Given the description of an element on the screen output the (x, y) to click on. 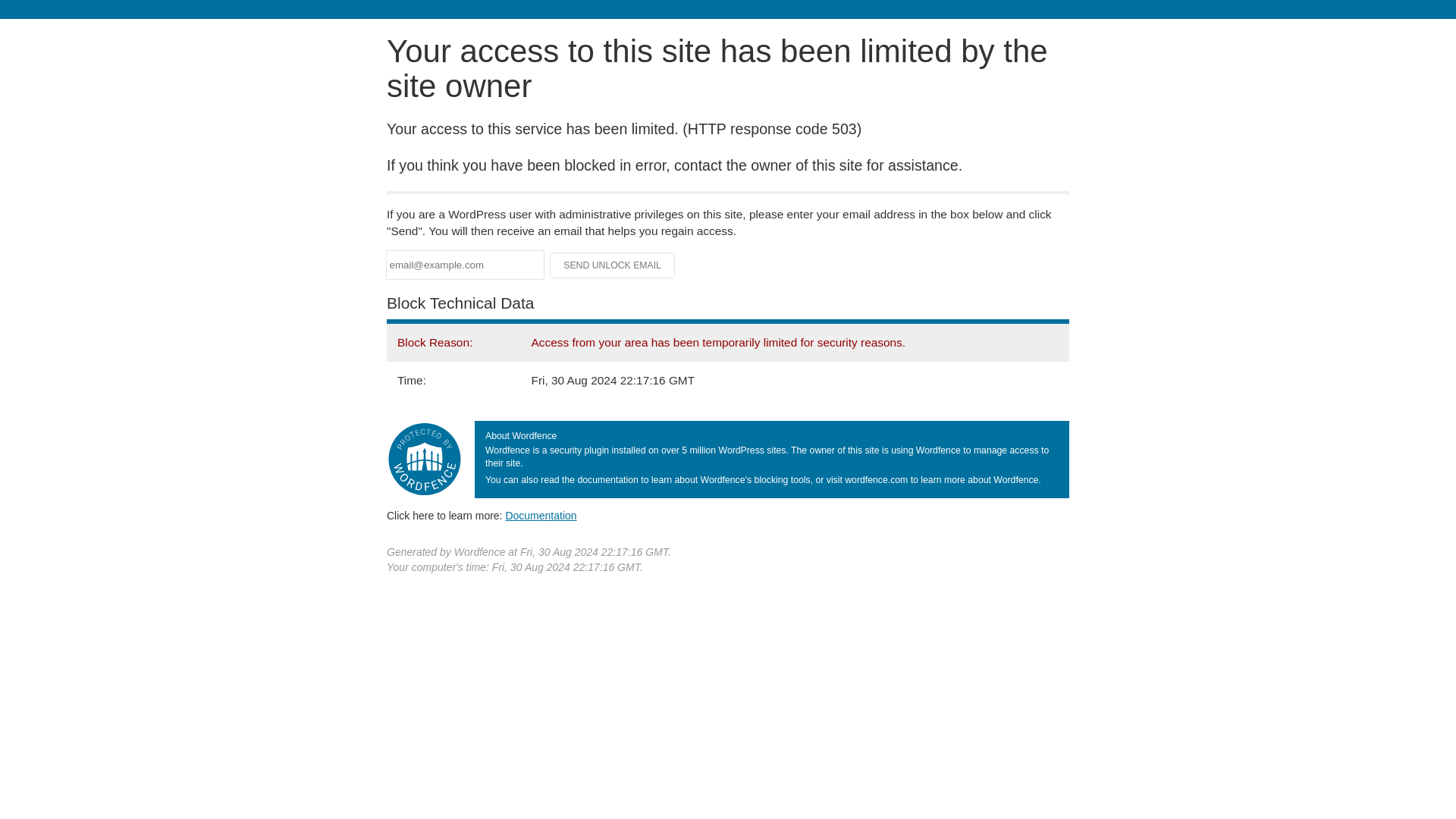
Documentation (540, 515)
Send Unlock Email (612, 265)
Send Unlock Email (612, 265)
